Given the description of an element on the screen output the (x, y) to click on. 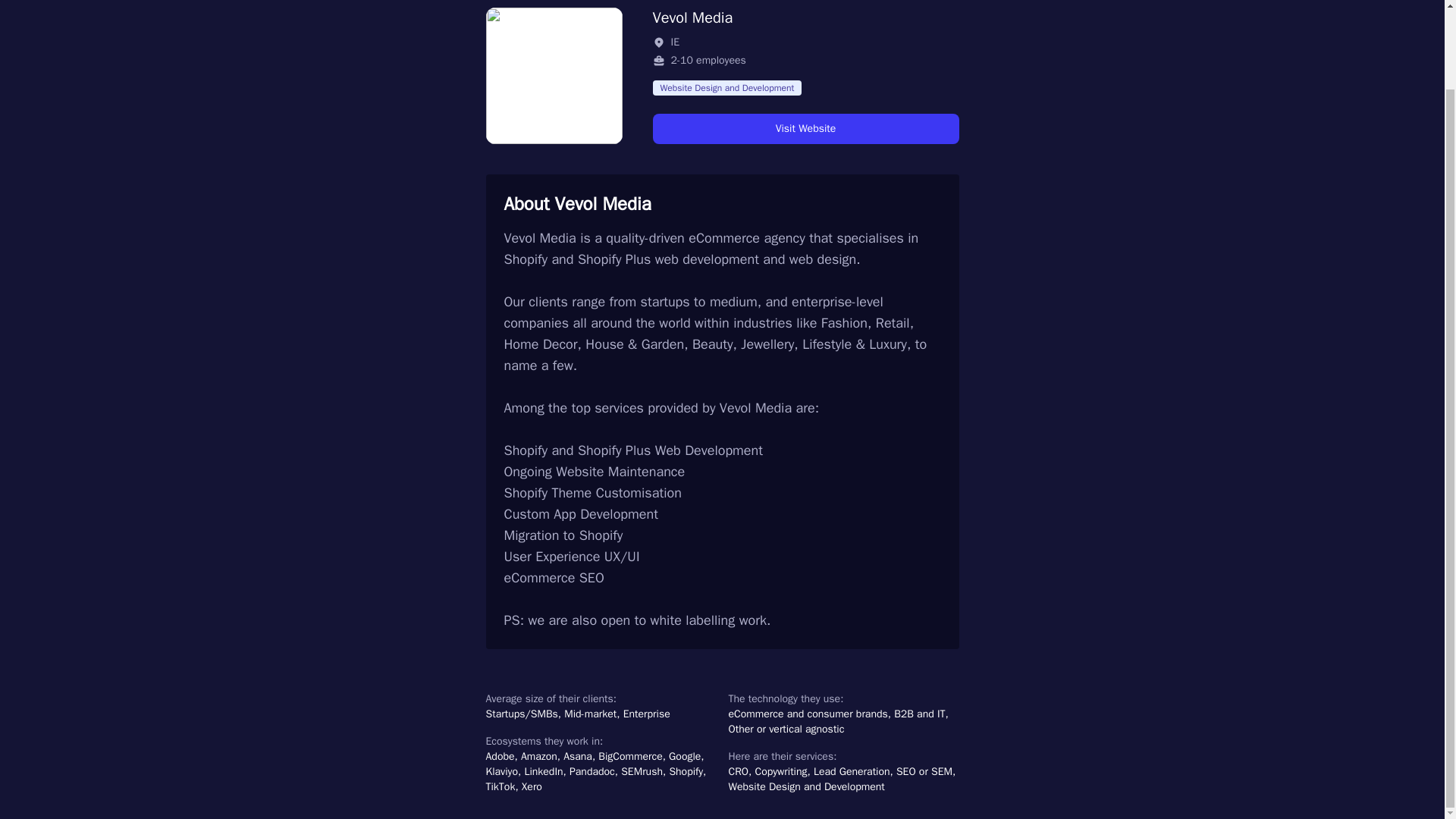
Visit Website (805, 128)
